Given the description of an element on the screen output the (x, y) to click on. 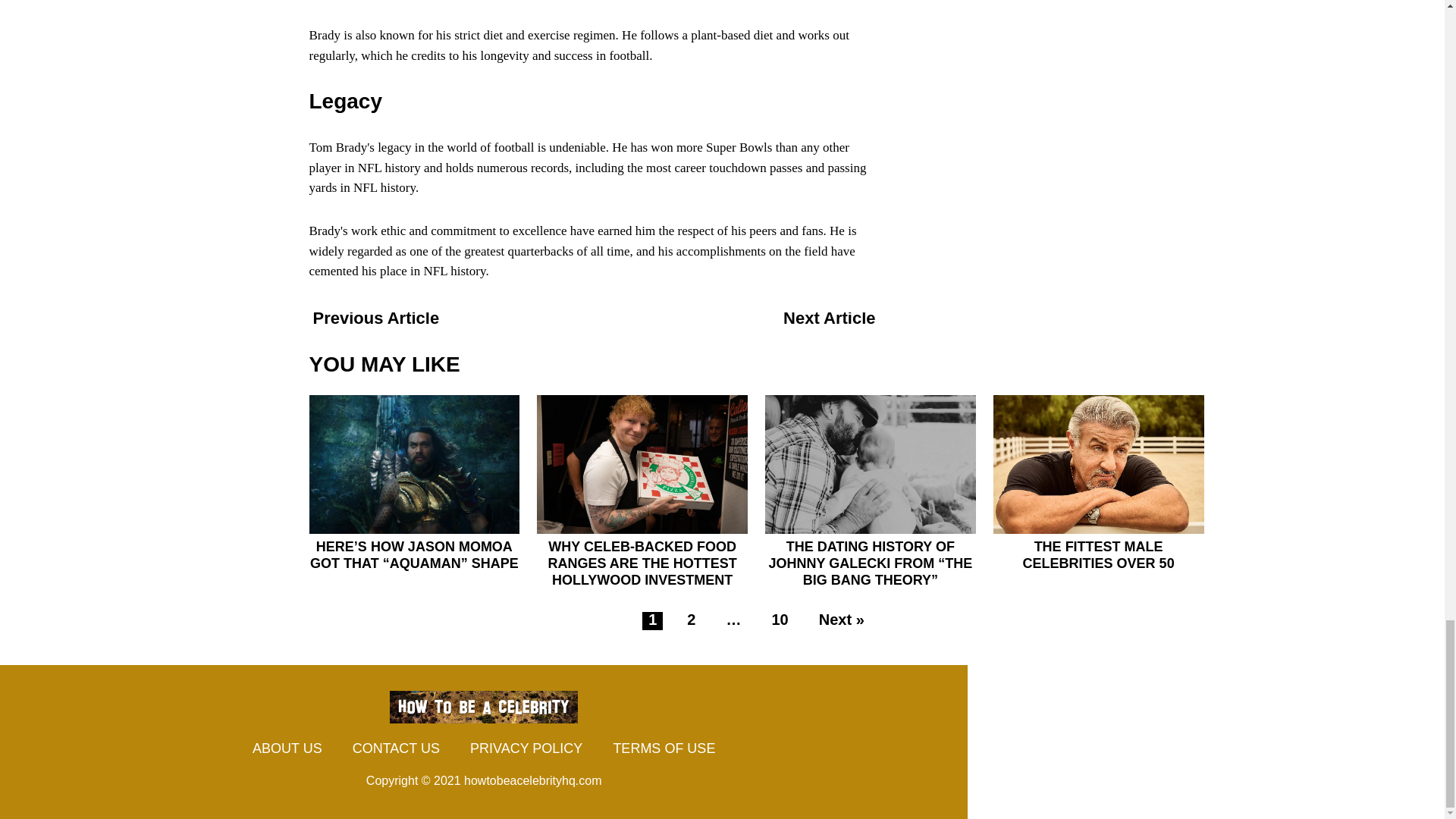
The Fittest Male Celebrities Over 50 (1098, 463)
Next Article (831, 318)
Previous Article (451, 318)
